Given the description of an element on the screen output the (x, y) to click on. 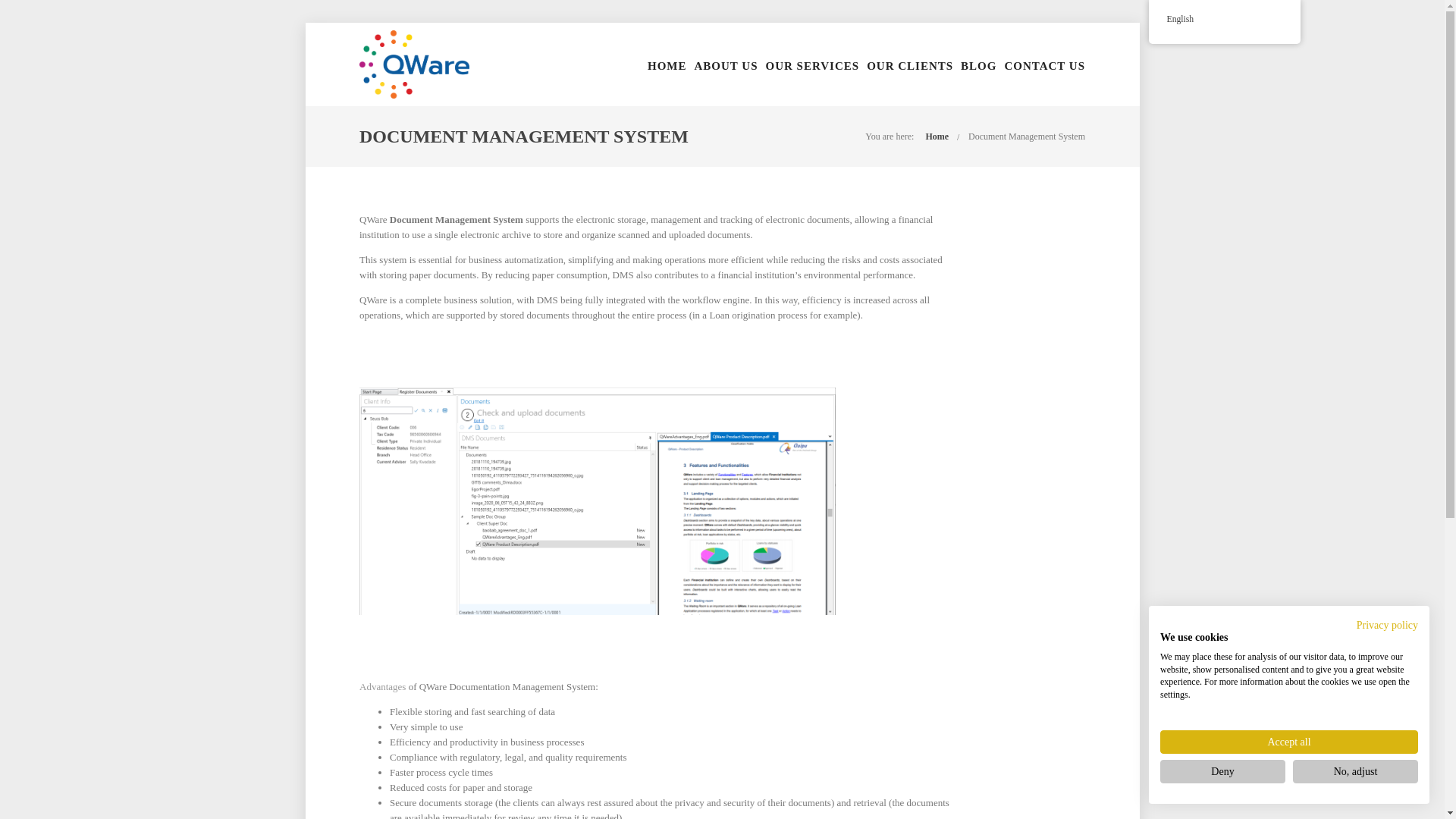
No, adjust (1355, 771)
Document Management System (1026, 136)
BLOG (977, 65)
OUR SERVICES (812, 65)
Home (936, 136)
ABOUT US (726, 65)
OUR CLIENTS (909, 65)
Deny (1222, 771)
Accept all (1289, 741)
CONTACT US (1044, 65)
